Given the description of an element on the screen output the (x, y) to click on. 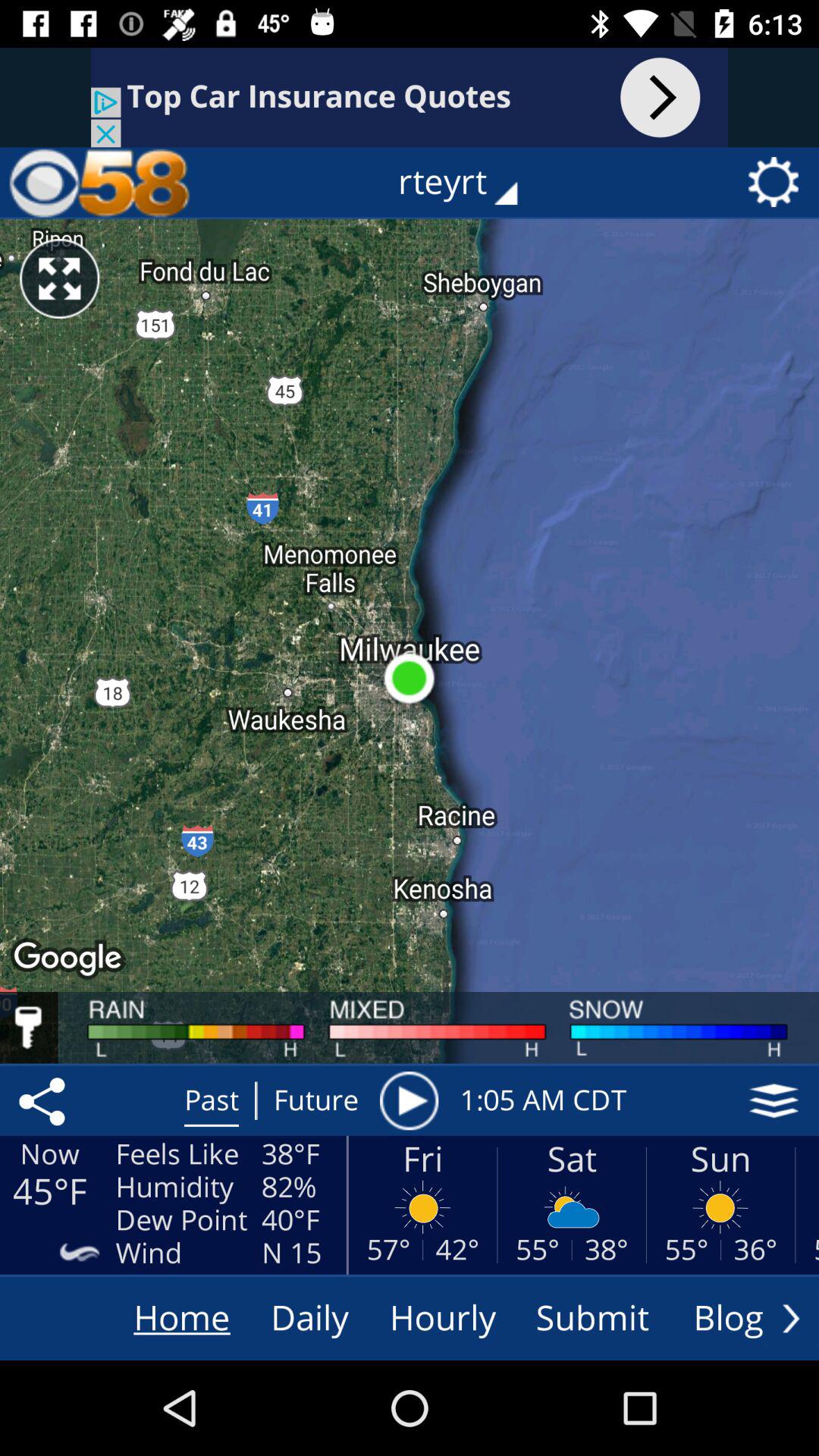
play broadcast (409, 1100)
